Given the description of an element on the screen output the (x, y) to click on. 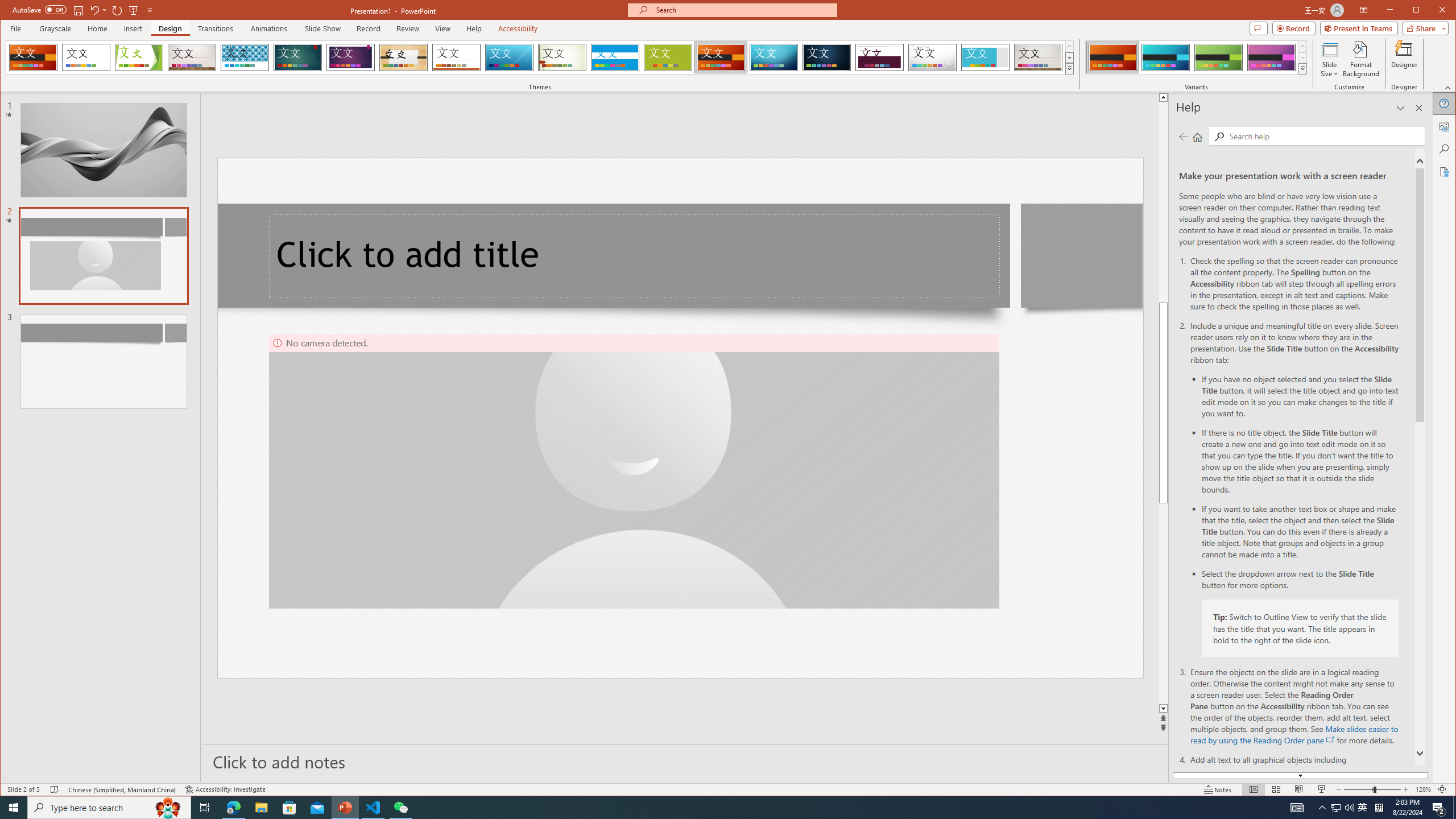
Dividend (879, 57)
